Given the description of an element on the screen output the (x, y) to click on. 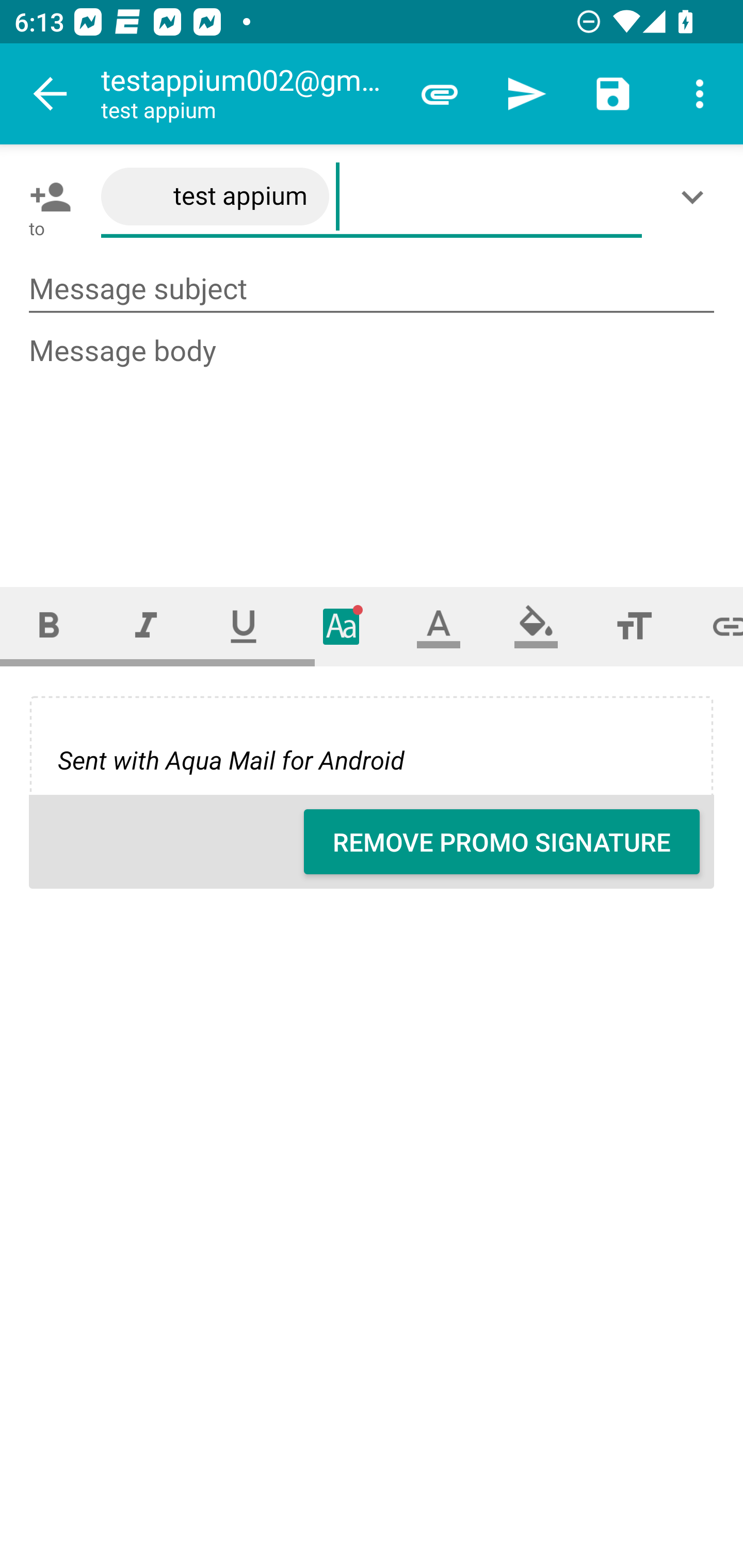
Navigate up (50, 93)
testappium002@gmail.com test appium (248, 93)
Attach (439, 93)
Send (525, 93)
Save (612, 93)
More options (699, 93)
test appium <testappium002@gmail.com>,  (371, 197)
Pick contact: To (46, 196)
Show/Add CC/BCC (696, 196)
Message subject (371, 288)
Message body (372, 442)
Bold (48, 626)
Italic (145, 626)
Underline (243, 626)
Typeface (font) (341, 626)
Text color (438, 626)
Fill color (536, 626)
Font size (633, 626)
REMOVE PROMO SIGNATURE (501, 841)
